Given the description of an element on the screen output the (x, y) to click on. 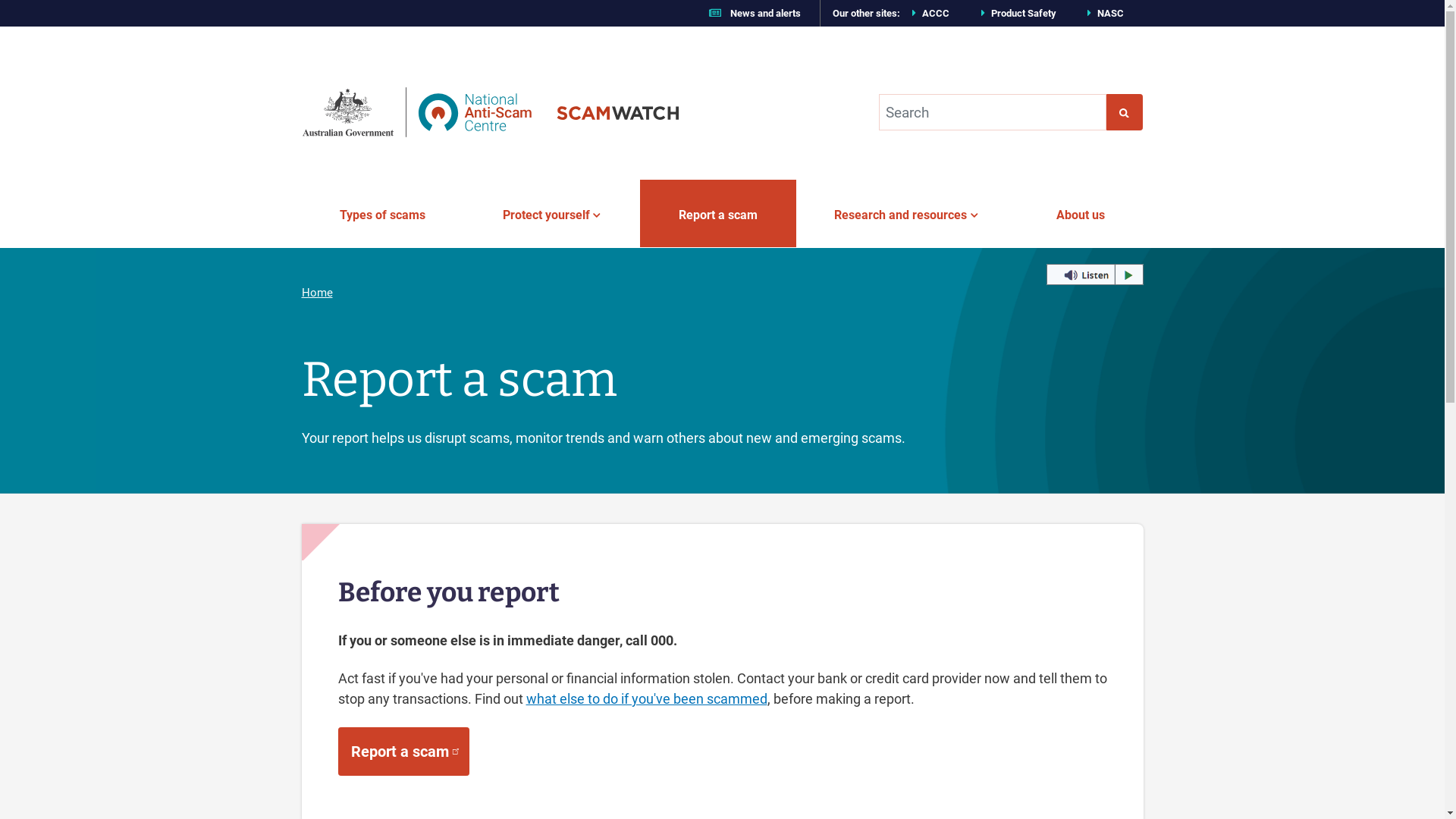
Product Safety Element type: text (1015, 12)
Home Element type: text (316, 292)
Listen to this page using ReadSpeaker Element type: hover (1094, 274)
what else to do if you've been scammed Element type: text (646, 698)
Search Element type: text (1123, 112)
Report a scam Element type: text (717, 212)
News and alerts Element type: text (749, 12)
Expand submenu for "Protect yourself" Element type: text (595, 215)
NASC Element type: text (1102, 12)
Expand submenu for "Research and resources" Element type: text (972, 215)
ACCC Element type: text (927, 12)
About us Element type: text (1079, 212)
Report a scam Element type: text (403, 751)
Types of scams Element type: text (382, 212)
Scamwatch home Element type: hover (489, 112)
Protect yourself
Expand submenu for "Protect yourself" Element type: text (552, 212)
